Given the description of an element on the screen output the (x, y) to click on. 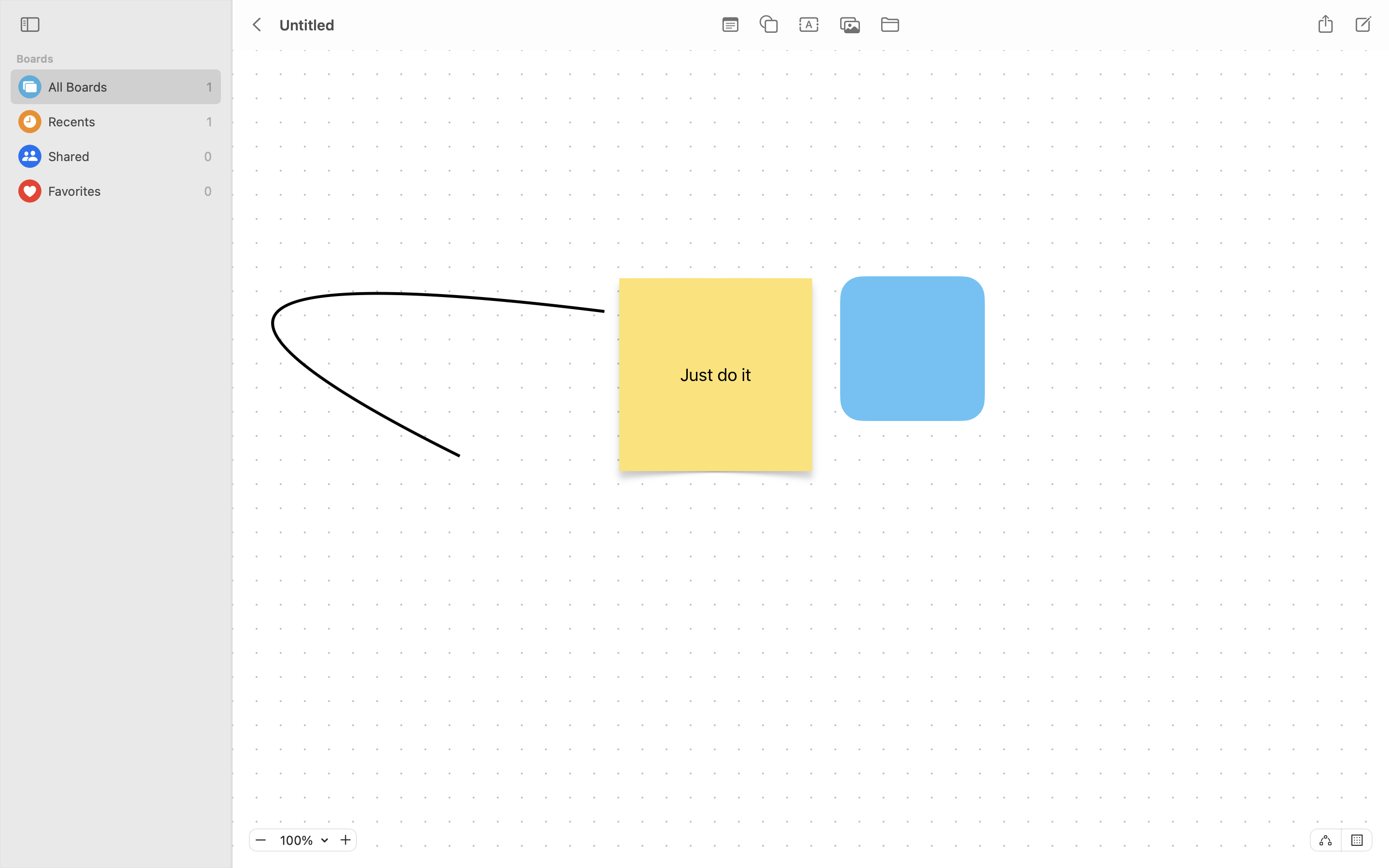
Recents Element type: AXStaticText (124, 121)
Shared Element type: AXStaticText (123, 155)
Favorites Element type: AXStaticText (123, 190)
Boards Element type: AXStaticText (121, 58)
